Given the description of an element on the screen output the (x, y) to click on. 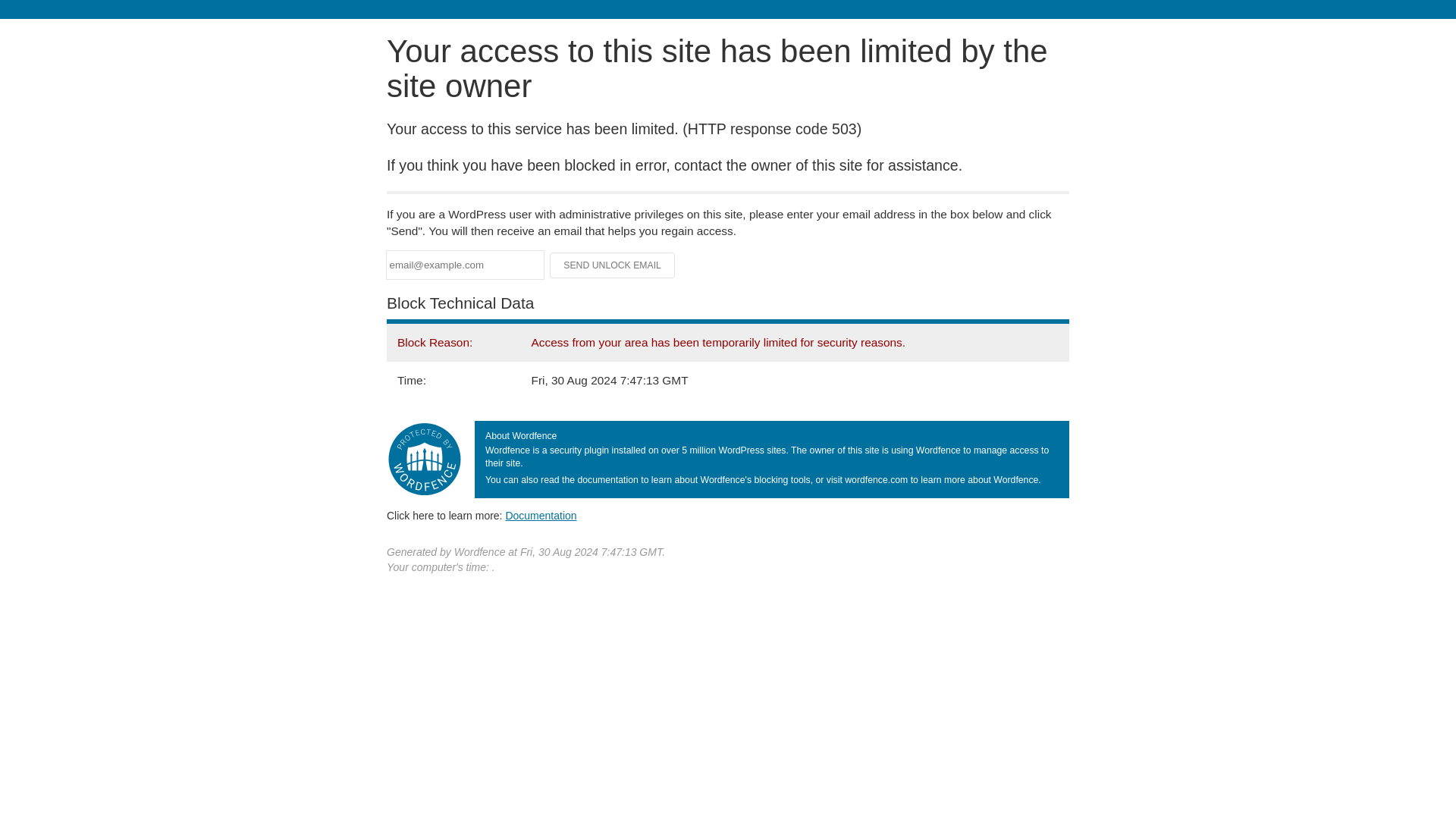
Send Unlock Email (612, 265)
Documentation (540, 515)
Send Unlock Email (612, 265)
